Given the description of an element on the screen output the (x, y) to click on. 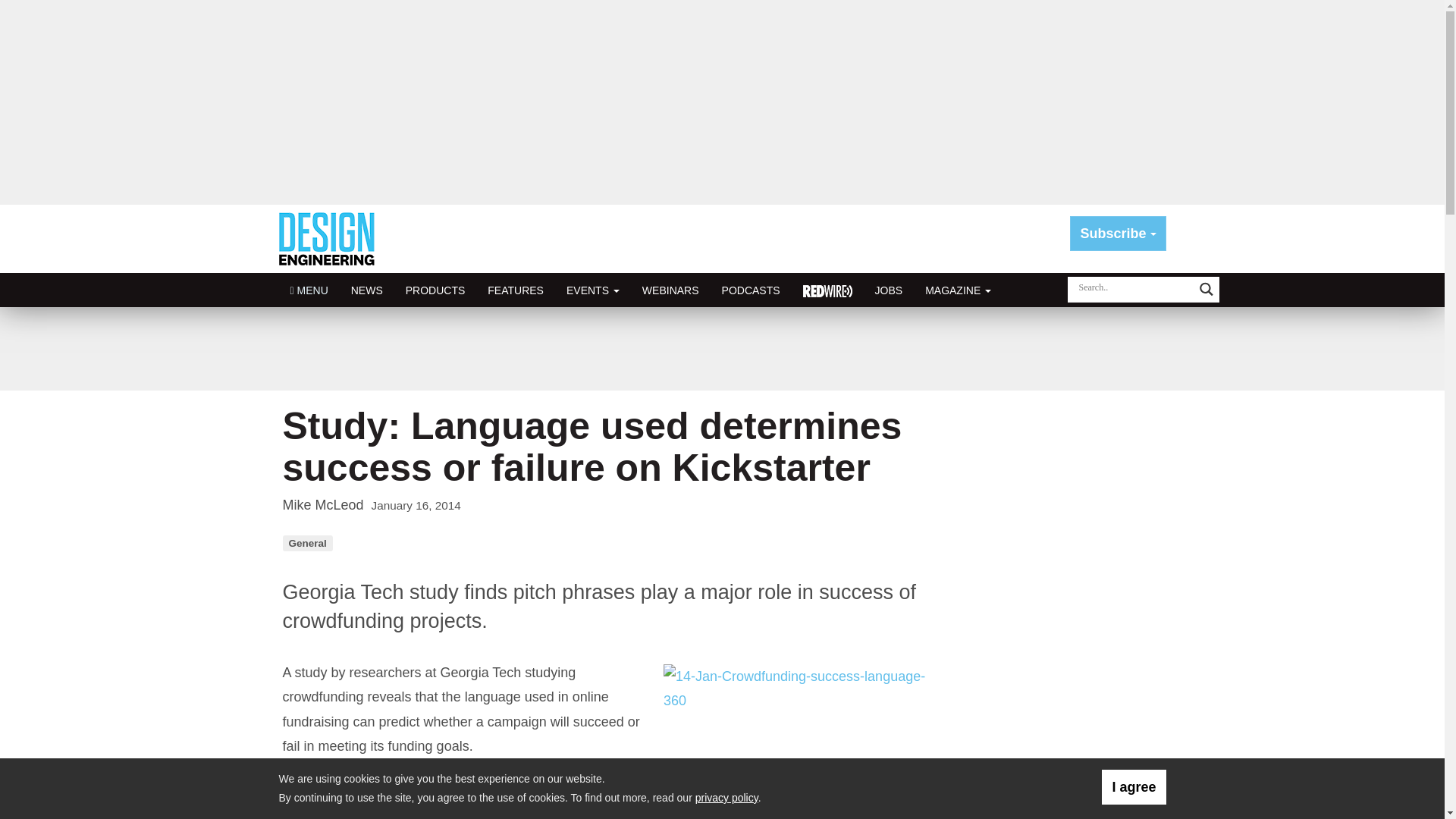
MENU (309, 289)
3rd party ad content (721, 348)
FEATURES (515, 289)
MAGAZINE (958, 289)
WEBINARS (670, 289)
Design Engineering (332, 237)
EVENTS (592, 289)
PRODUCTS (435, 289)
Subscribe (1118, 233)
3rd party ad content (1055, 510)
PODCASTS (751, 289)
NEWS (366, 289)
3rd party ad content (1055, 707)
JOBS (888, 289)
